Given the description of an element on the screen output the (x, y) to click on. 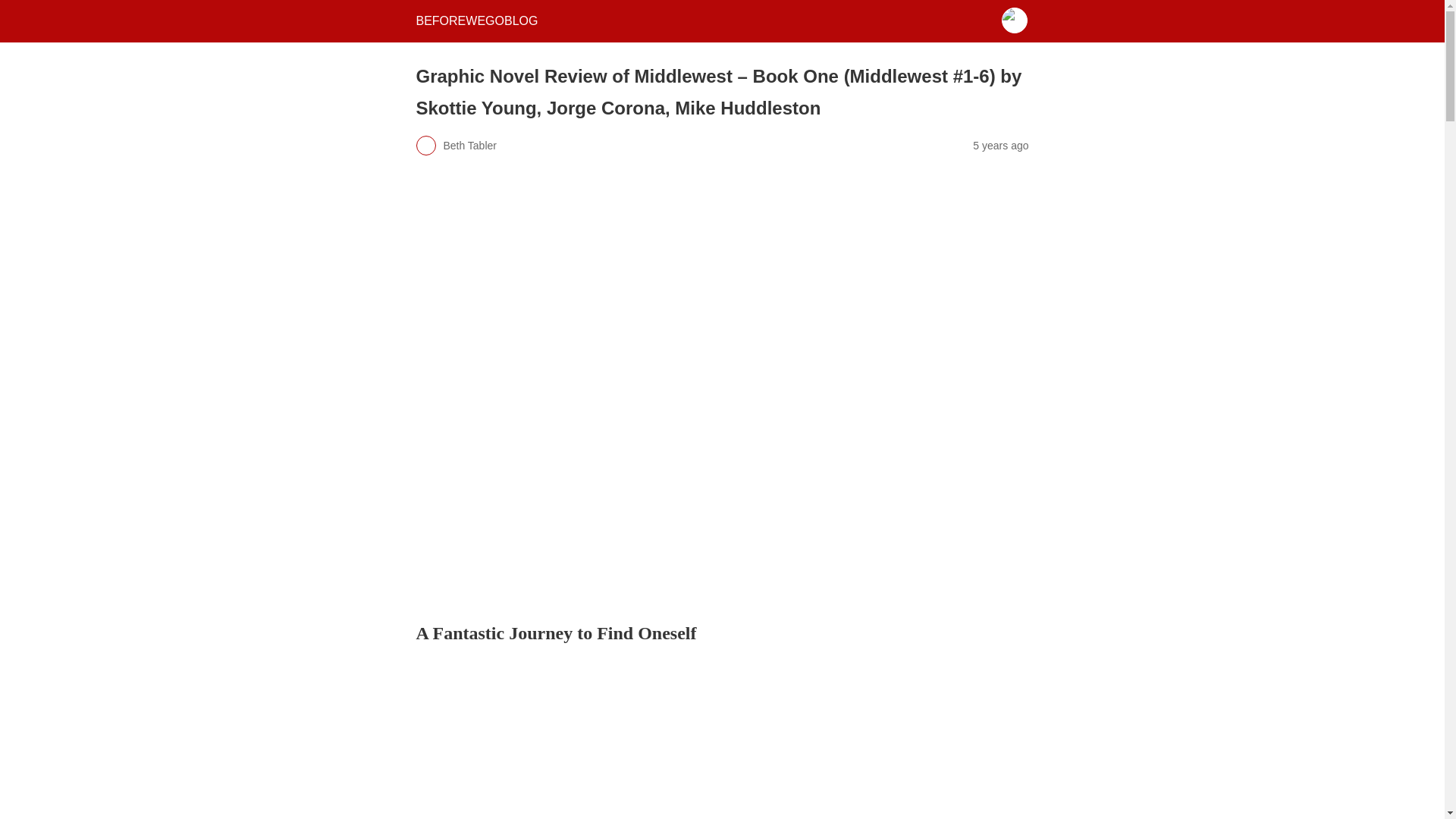
BEFOREWEGOBLOG (475, 20)
